Given the description of an element on the screen output the (x, y) to click on. 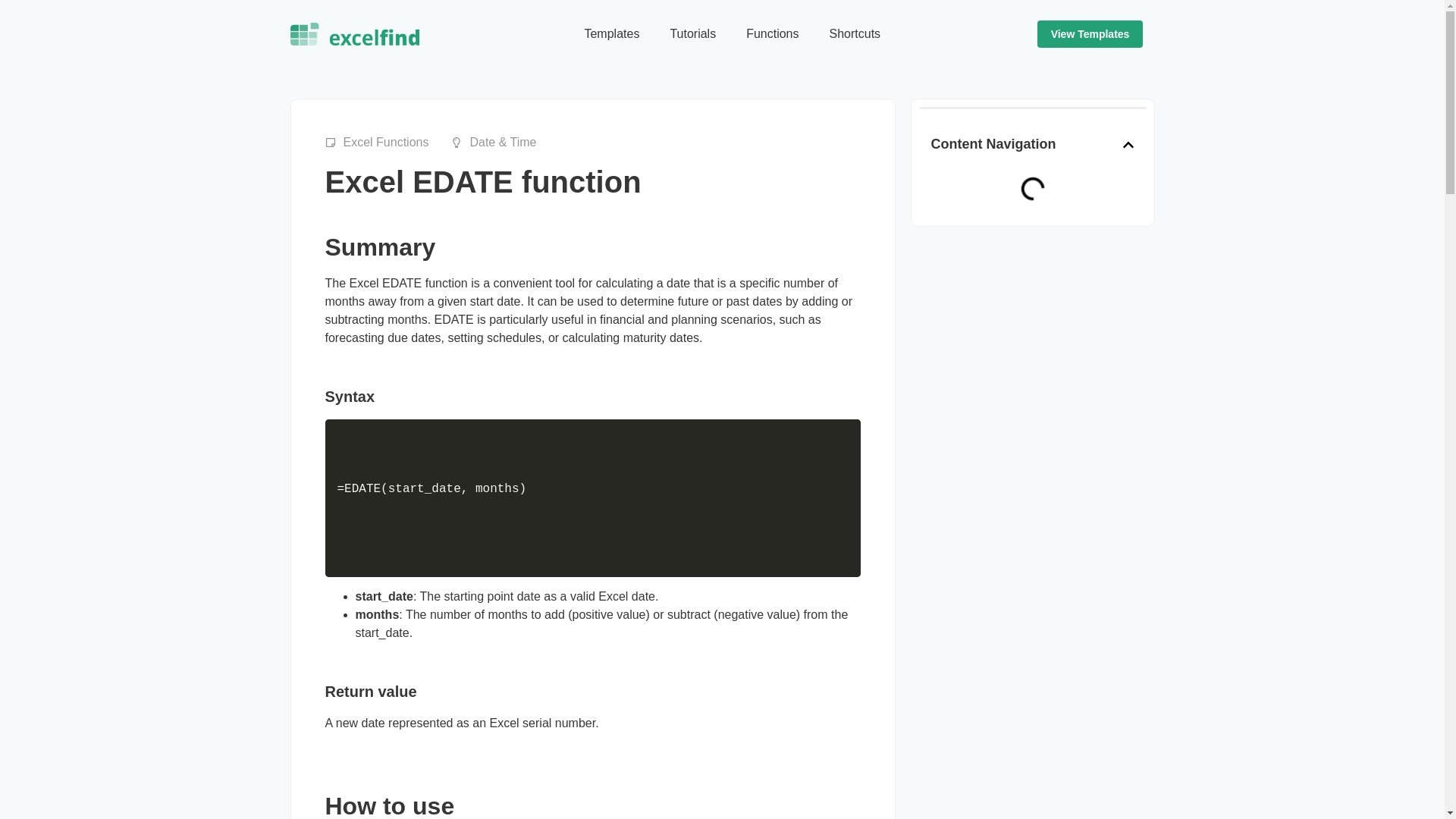
Shortcuts (854, 33)
Functions (771, 33)
Tutorials (691, 33)
Templates (611, 33)
View Templates (1089, 33)
Excel Functions (376, 142)
